Given the description of an element on the screen output the (x, y) to click on. 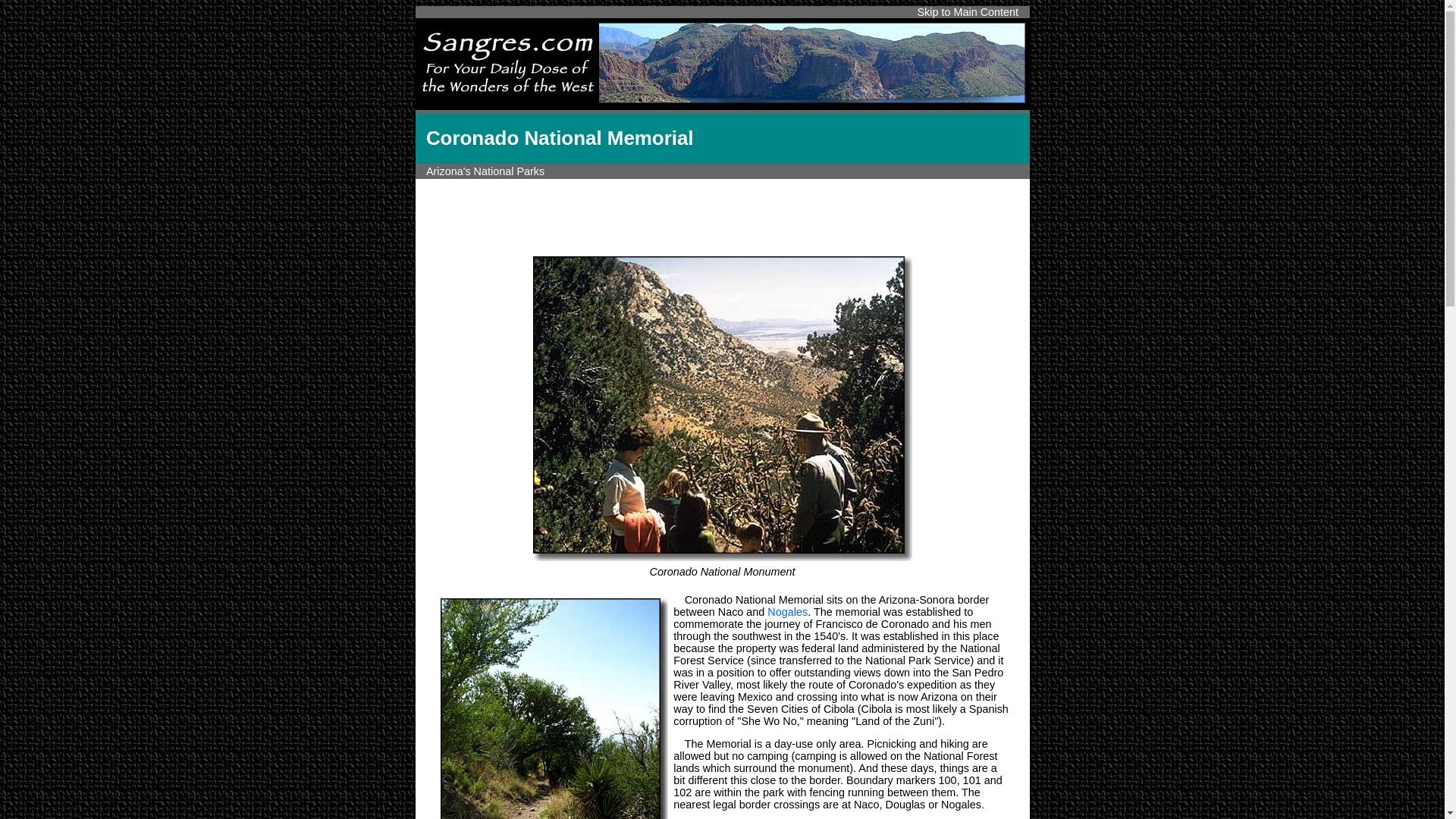
Advertisement (721, 214)
Nogales, Arizona (787, 612)
National Park Service Sites in Arizona (485, 171)
Joe's Canyon Trail, Coronado National Memorial (555, 708)
Coronado National Memorial (722, 408)
Nogales (787, 612)
Arizona's National Parks (485, 171)
Skip to Main Content (968, 11)
